Given the description of an element on the screen output the (x, y) to click on. 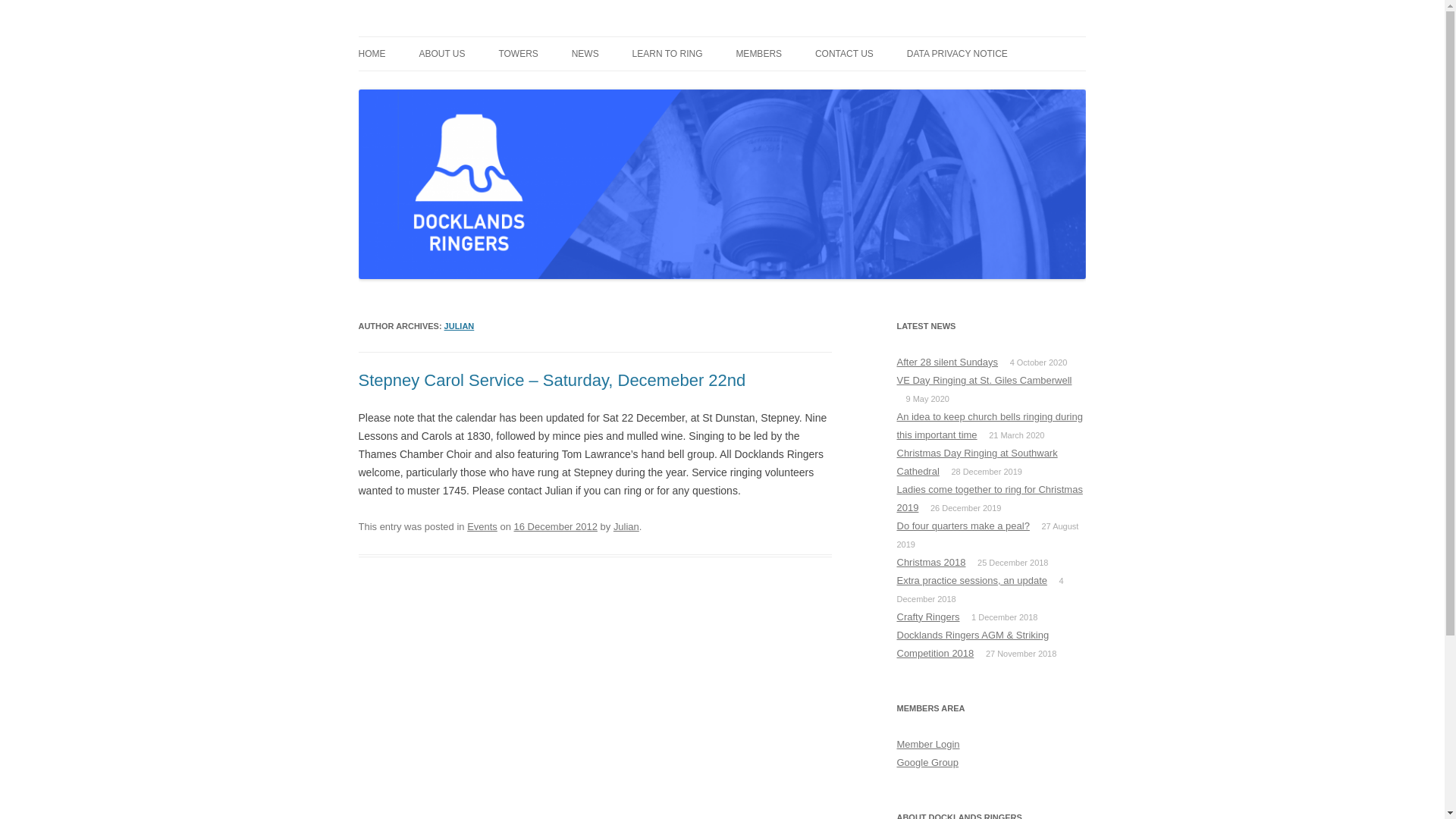
View all posts by Julian (625, 526)
BERMONDSEY (573, 85)
TOWERS (517, 53)
Docklands Ringers (446, 36)
ABOUT US (441, 53)
15:38 (554, 526)
